Given the description of an element on the screen output the (x, y) to click on. 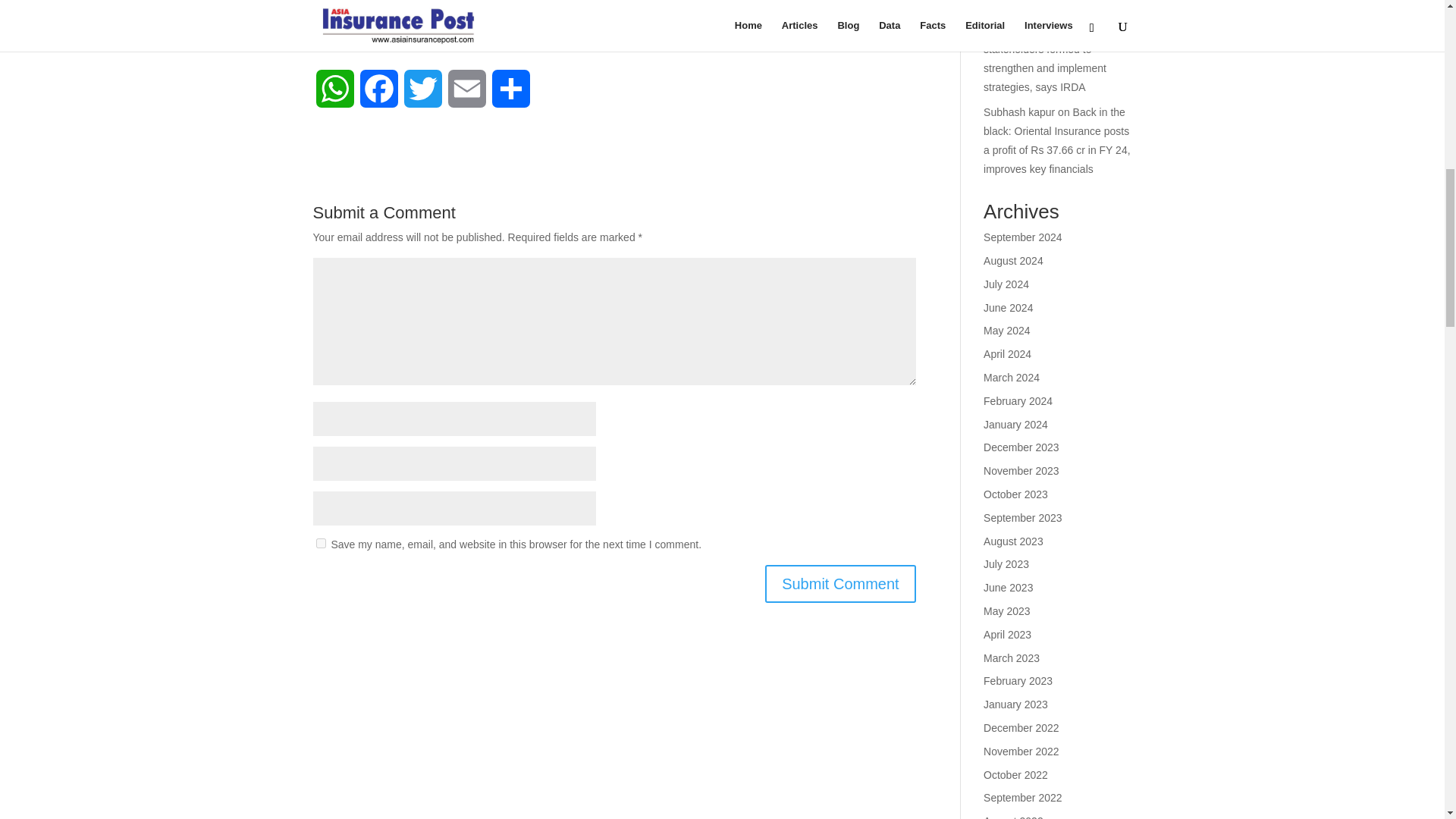
Submit Comment (840, 582)
yes (319, 542)
August 2024 (1013, 260)
September 2024 (1023, 236)
Submit Comment (840, 582)
